Given the description of an element on the screen output the (x, y) to click on. 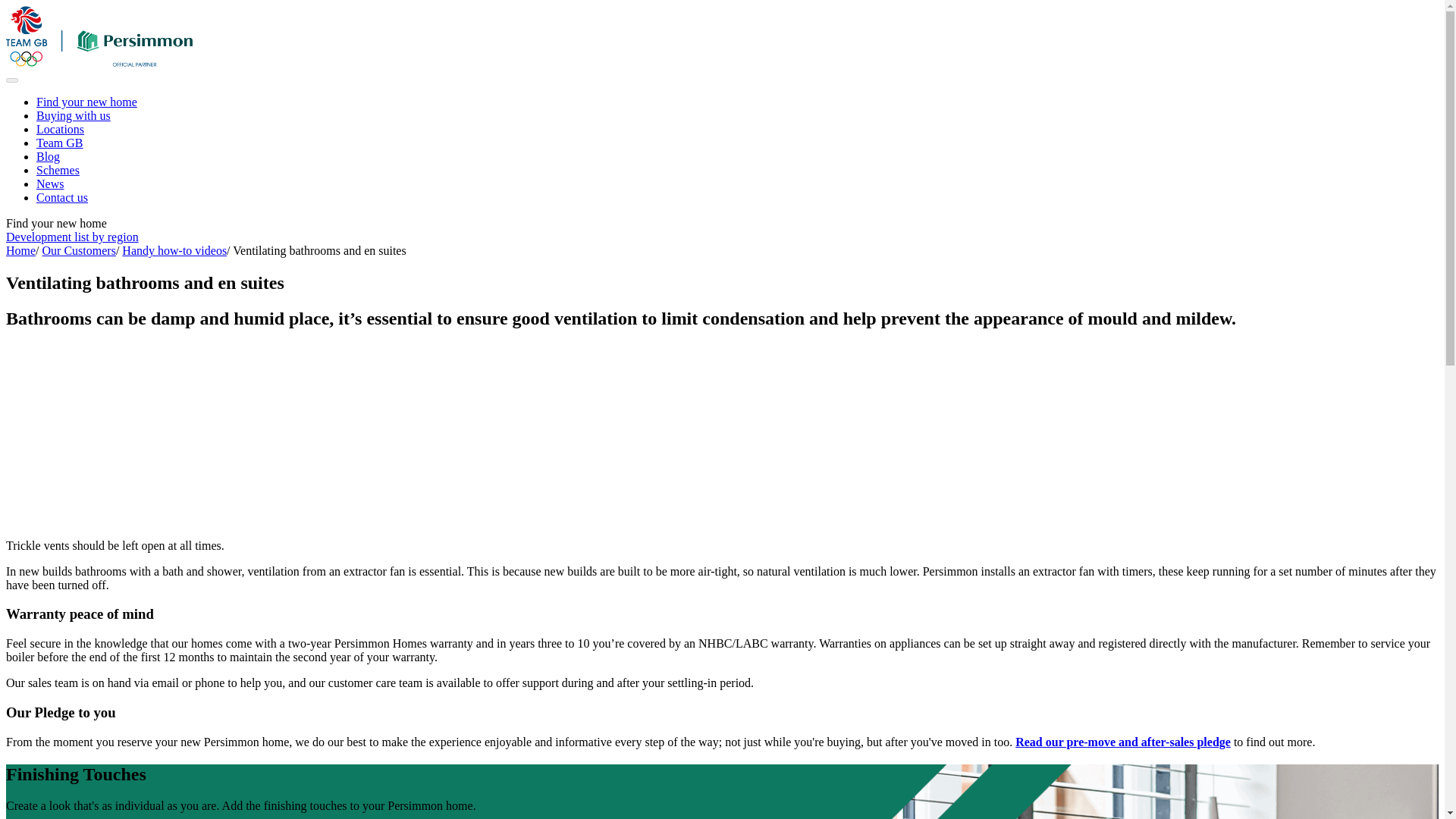
Team GB (59, 142)
Locations (60, 128)
Read our pre-move and after-sales pledge (1122, 741)
Find your new home (86, 101)
Handy how-to videos (174, 250)
Home (19, 250)
Ventilating Bathrooms (142, 420)
Our Customers (79, 250)
Buying with us (73, 115)
Schemes (58, 169)
Contact us (61, 196)
Development list by region (71, 236)
News (50, 183)
Blog (47, 155)
Persimmon Pledge (1122, 741)
